Given the description of an element on the screen output the (x, y) to click on. 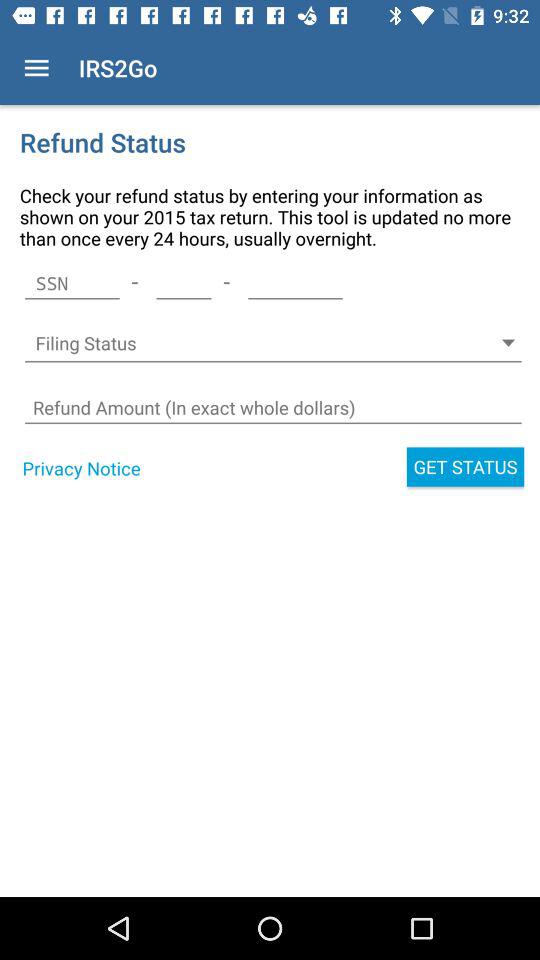
open the icon next to the - icon (71, 283)
